Given the description of an element on the screen output the (x, y) to click on. 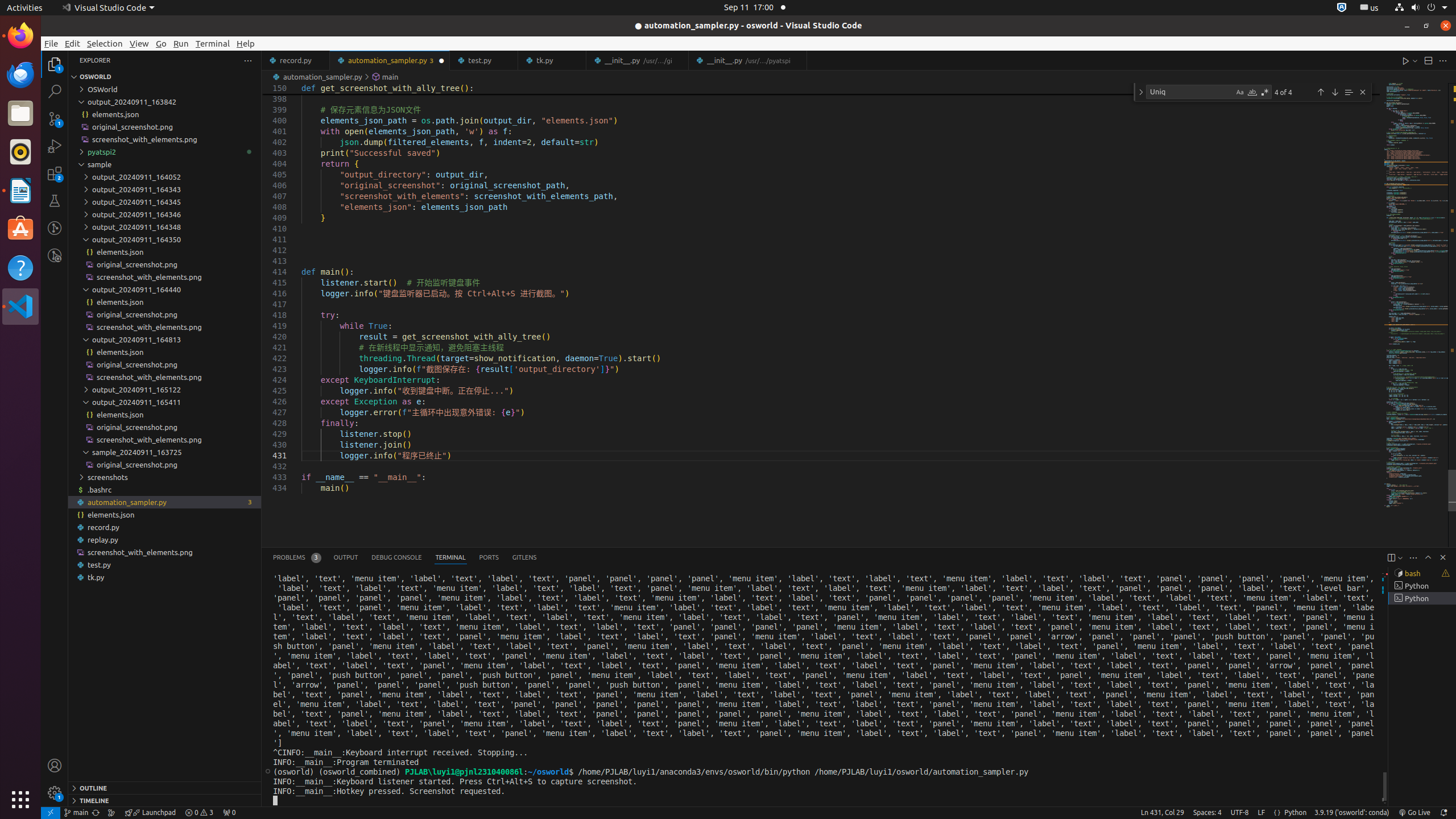
Output (Ctrl+K Ctrl+H) Element type: page-tab (345, 557)
screenshot_with_elements.png Element type: tree-item (164, 552)
Previous Match (Shift+Enter) Element type: push-button (1320, 91)
